Given the description of an element on the screen output the (x, y) to click on. 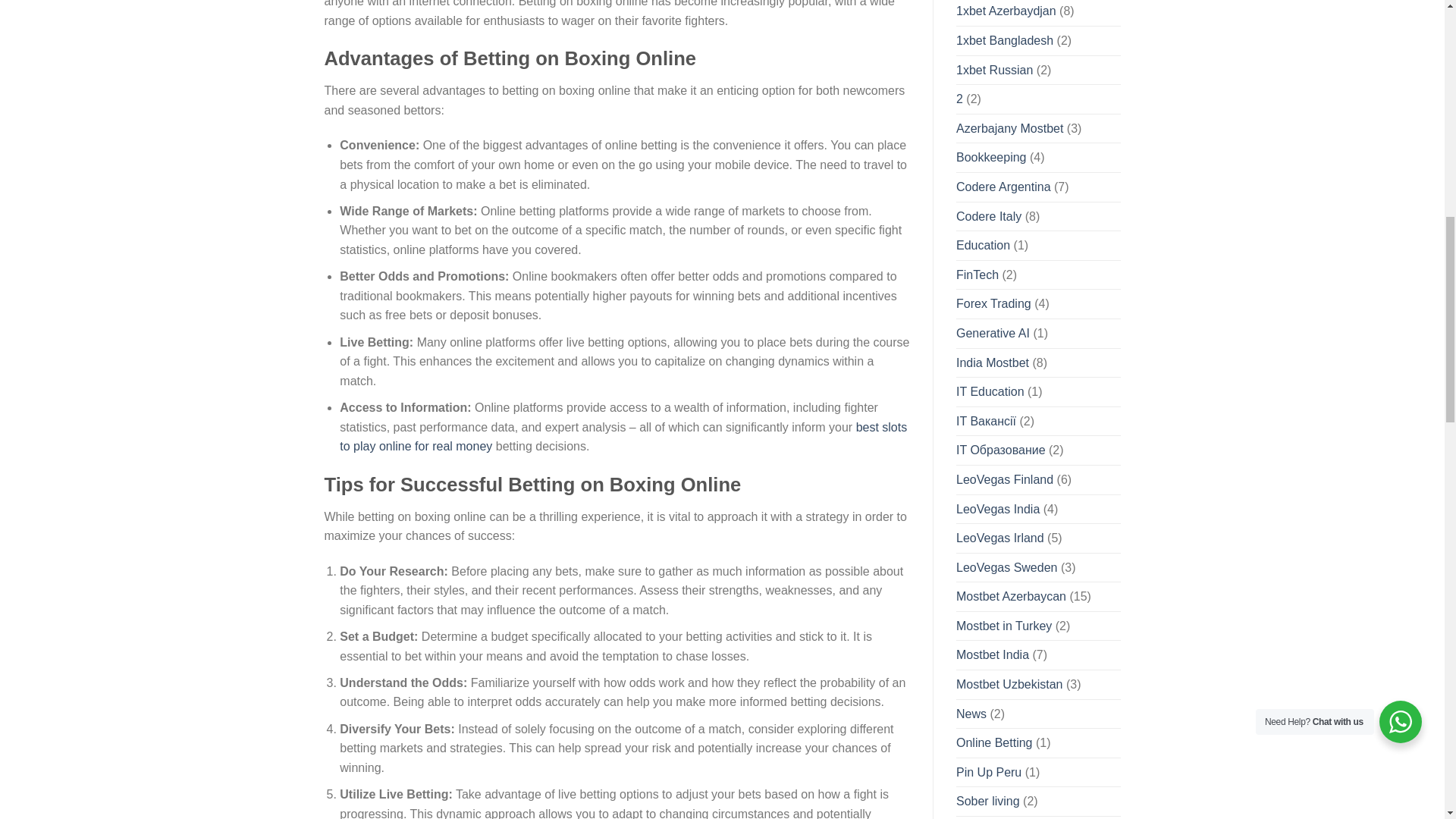
best slots to play online for real money (623, 436)
